Given the description of an element on the screen output the (x, y) to click on. 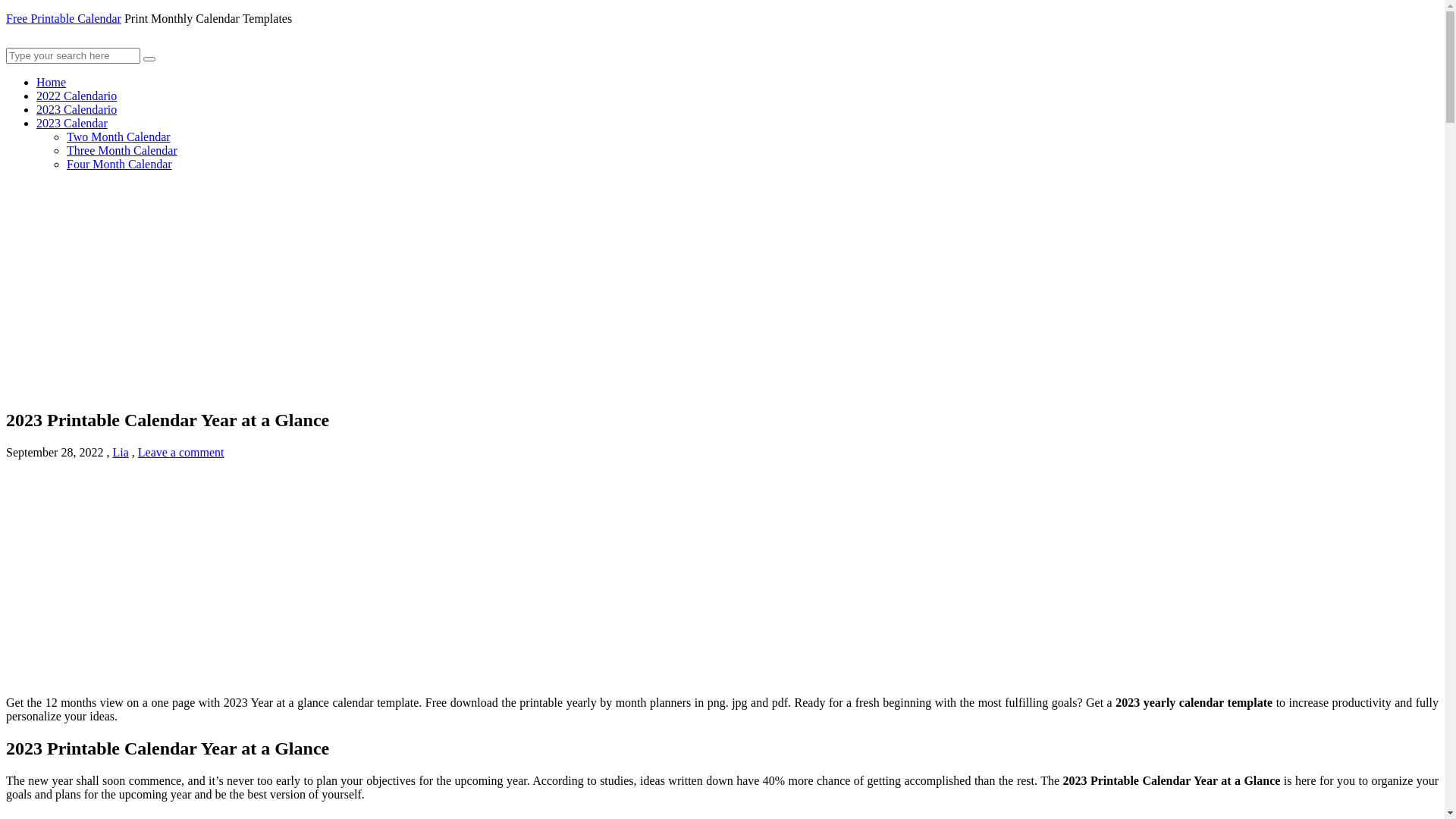
Search Element type: text (149, 58)
Three Month Calendar Element type: text (121, 150)
Home Element type: text (50, 81)
2023 Calendario Element type: text (76, 109)
Free Printable Calendar Element type: text (63, 18)
Advertisement Element type: hover (461, 289)
2023 Calendar Element type: text (71, 122)
Lia Element type: text (120, 451)
2022 Calendario Element type: text (76, 95)
Four Month Calendar Element type: text (119, 163)
Two Month Calendar Element type: text (118, 136)
Advertisement Element type: hover (721, 577)
Leave a comment Element type: text (181, 451)
